Given the description of an element on the screen output the (x, y) to click on. 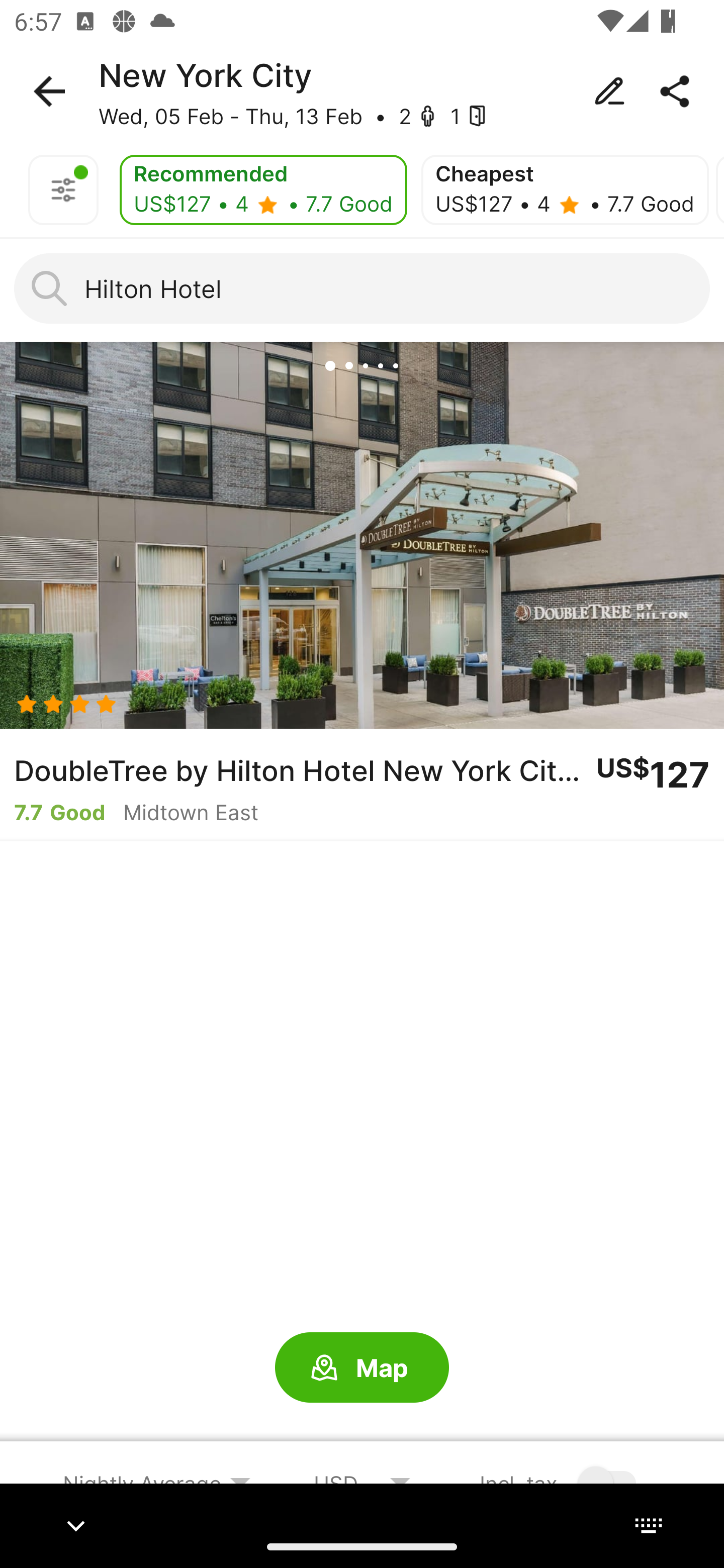
Recommended  US$127  • 4 - • 7.7 Good (262, 190)
Cheapest US$127  • 4 - • 7.7 Good (564, 190)
Hilton Hotel (361, 288)
Map  (361, 1367)
